Given the description of an element on the screen output the (x, y) to click on. 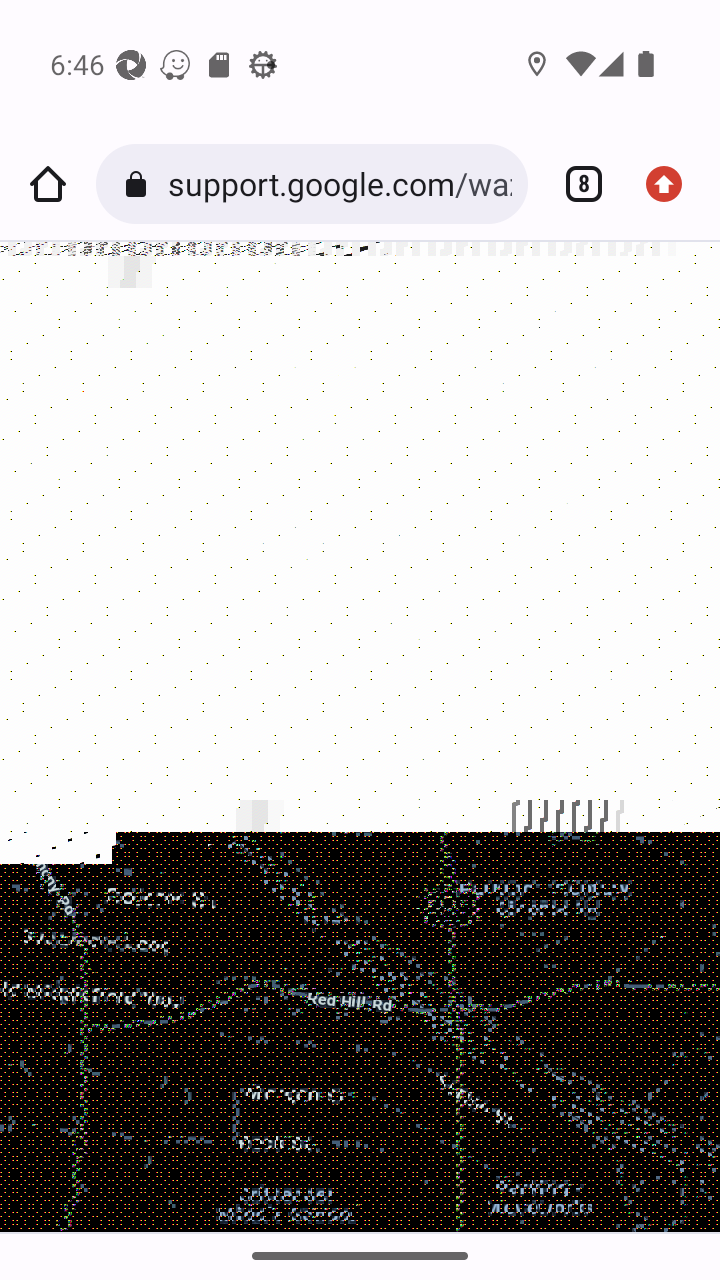
Home (47, 184)
Connection is secure (139, 184)
Switch or close tabs (575, 184)
Update available. More options (672, 184)
support.google.com/waze/answer/11942300 (339, 184)
